Given the description of an element on the screen output the (x, y) to click on. 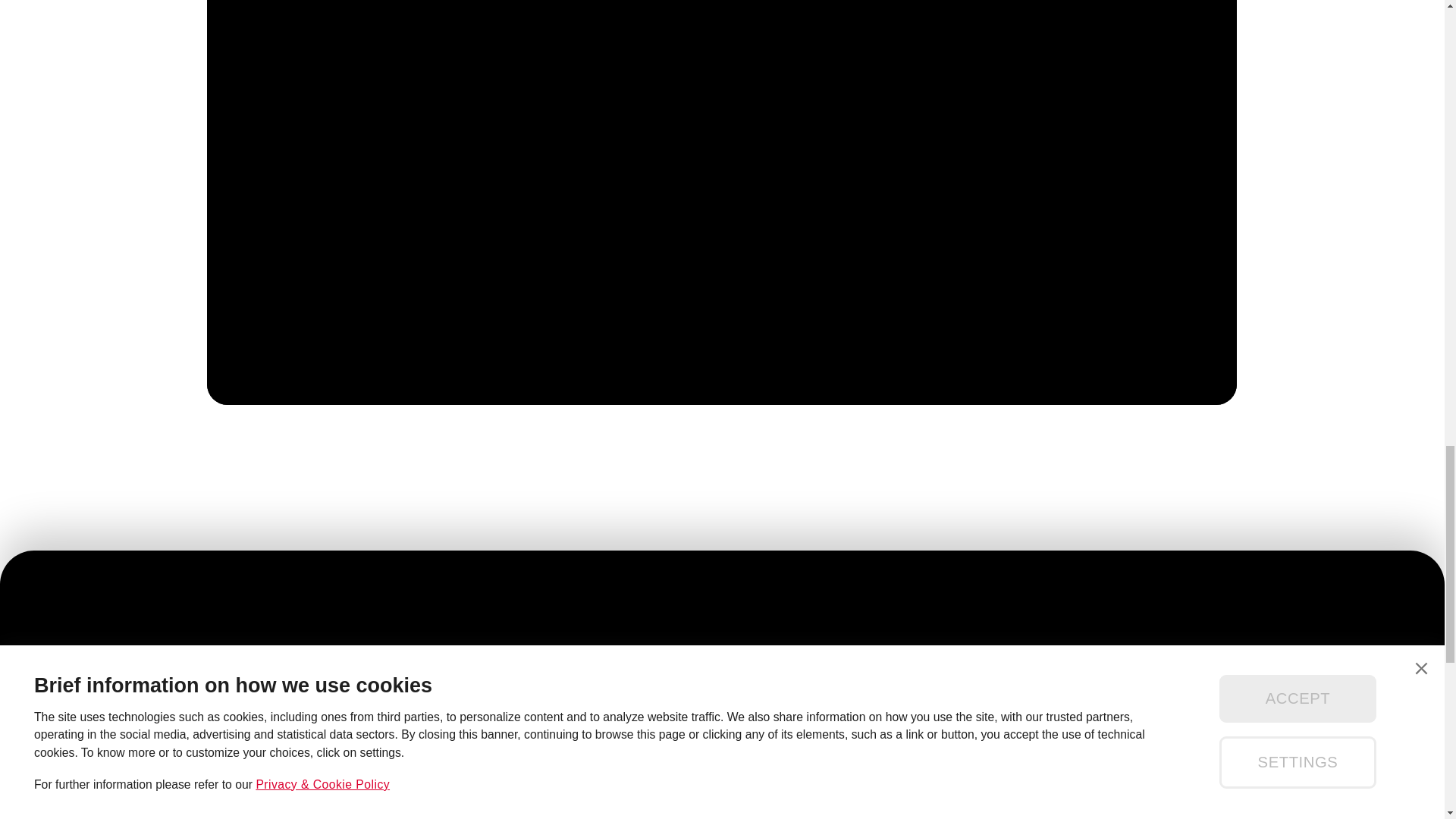
GROUP (757, 779)
Terzo Valico Project (1123, 816)
BUSINESS AREAS (791, 814)
Milan's M4 Metro (1115, 779)
